Given the description of an element on the screen output the (x, y) to click on. 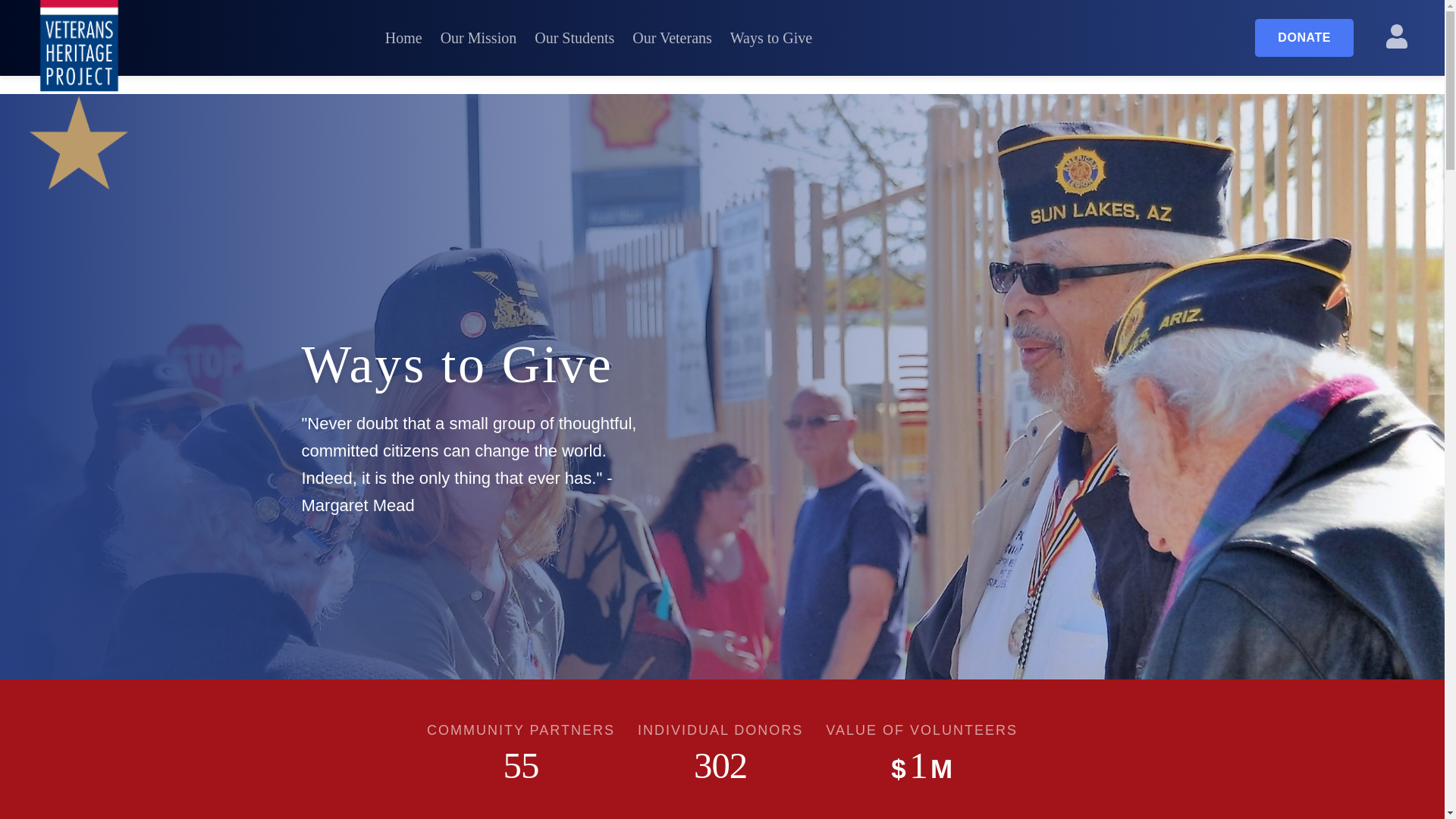
Our Mission (478, 38)
DONATE (1304, 37)
Skip to main content (55, 8)
Our Veterans (671, 38)
Our Students (574, 38)
Ways to Give (771, 38)
